Given the description of an element on the screen output the (x, y) to click on. 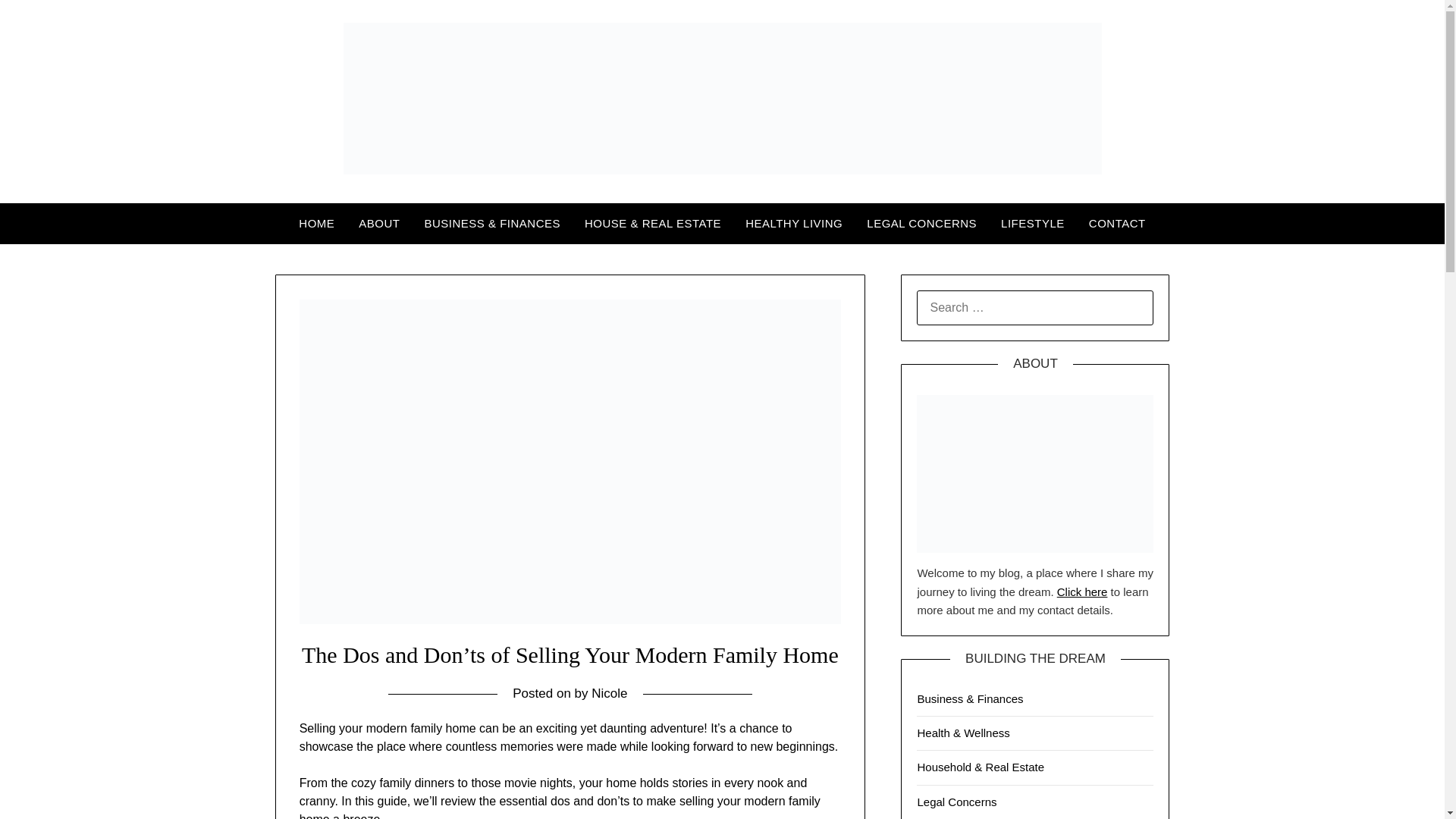
Legal Concerns (956, 801)
CONTACT (1117, 223)
HEALTHY LIVING (793, 223)
LEGAL CONCERNS (921, 223)
ABOUT (379, 223)
Nicole (609, 693)
Click here (1082, 591)
LIFESTYLE (1032, 223)
HOME (316, 223)
Search (38, 22)
